Given the description of an element on the screen output the (x, y) to click on. 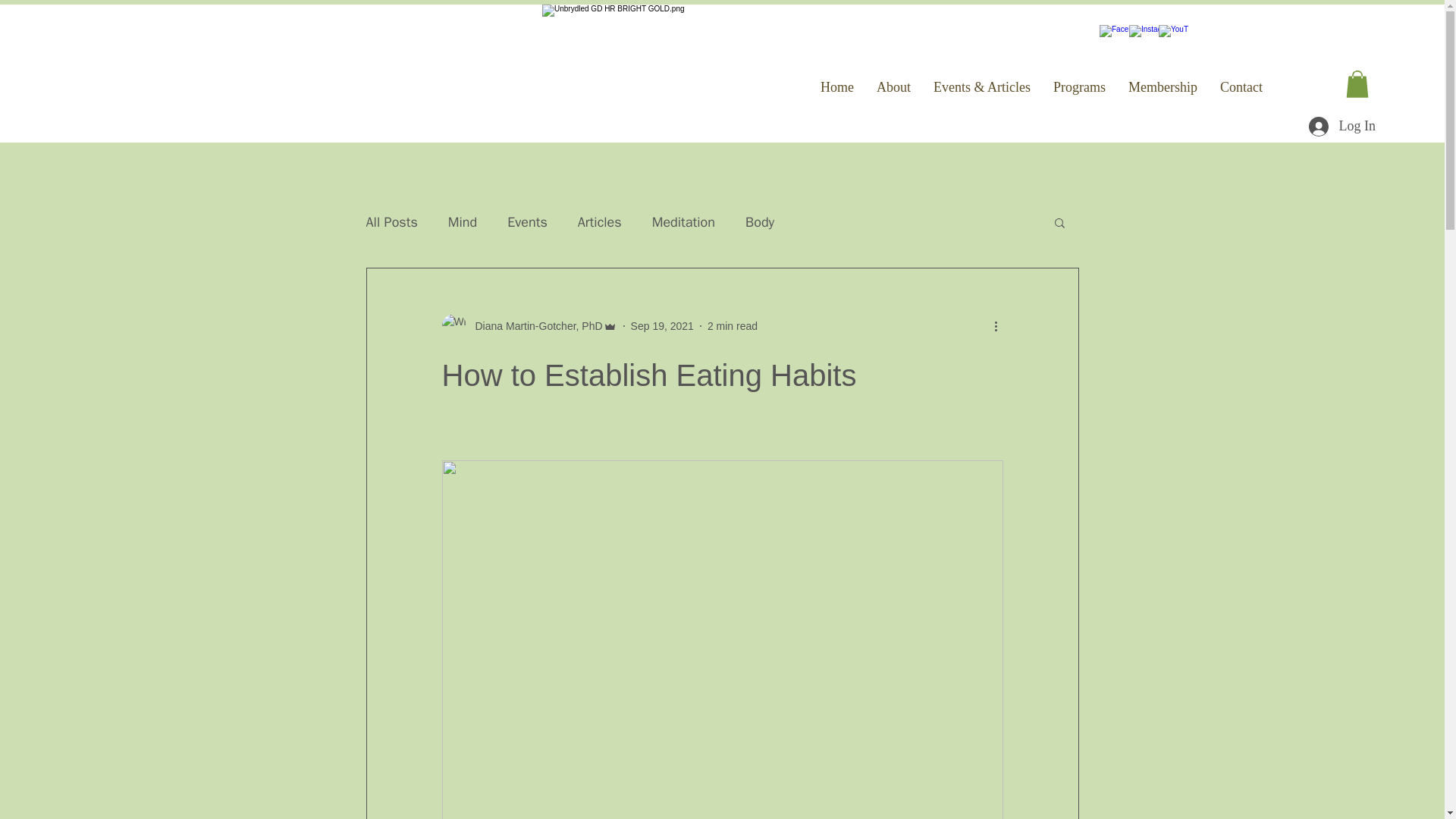
Events (526, 221)
Body (759, 221)
Sep 19, 2021 (662, 326)
Contact (1241, 86)
Diana Martin-Gotcher, PhD (533, 326)
Meditation (683, 221)
Articles (599, 221)
Home (836, 86)
2 min read (732, 326)
Programs (1079, 86)
Log In (1342, 126)
About (892, 86)
Mind (462, 221)
Membership (1162, 86)
Diana Martin-Gotcher, PhD (528, 325)
